Given the description of an element on the screen output the (x, y) to click on. 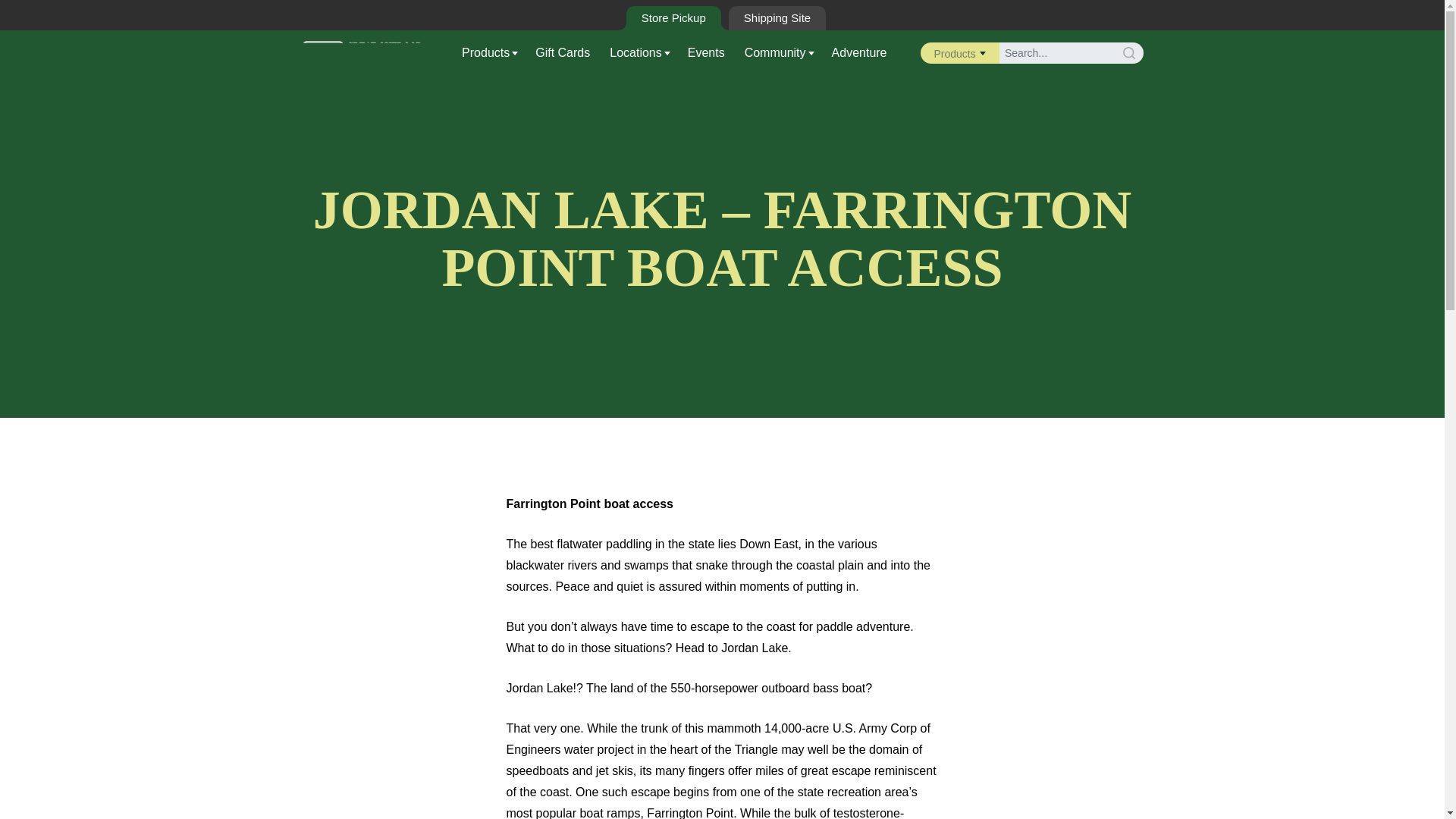
Great Outdoor Provision Company (362, 52)
Shipping Site (777, 17)
Store Pickup (673, 17)
Products (491, 53)
